Given the description of an element on the screen output the (x, y) to click on. 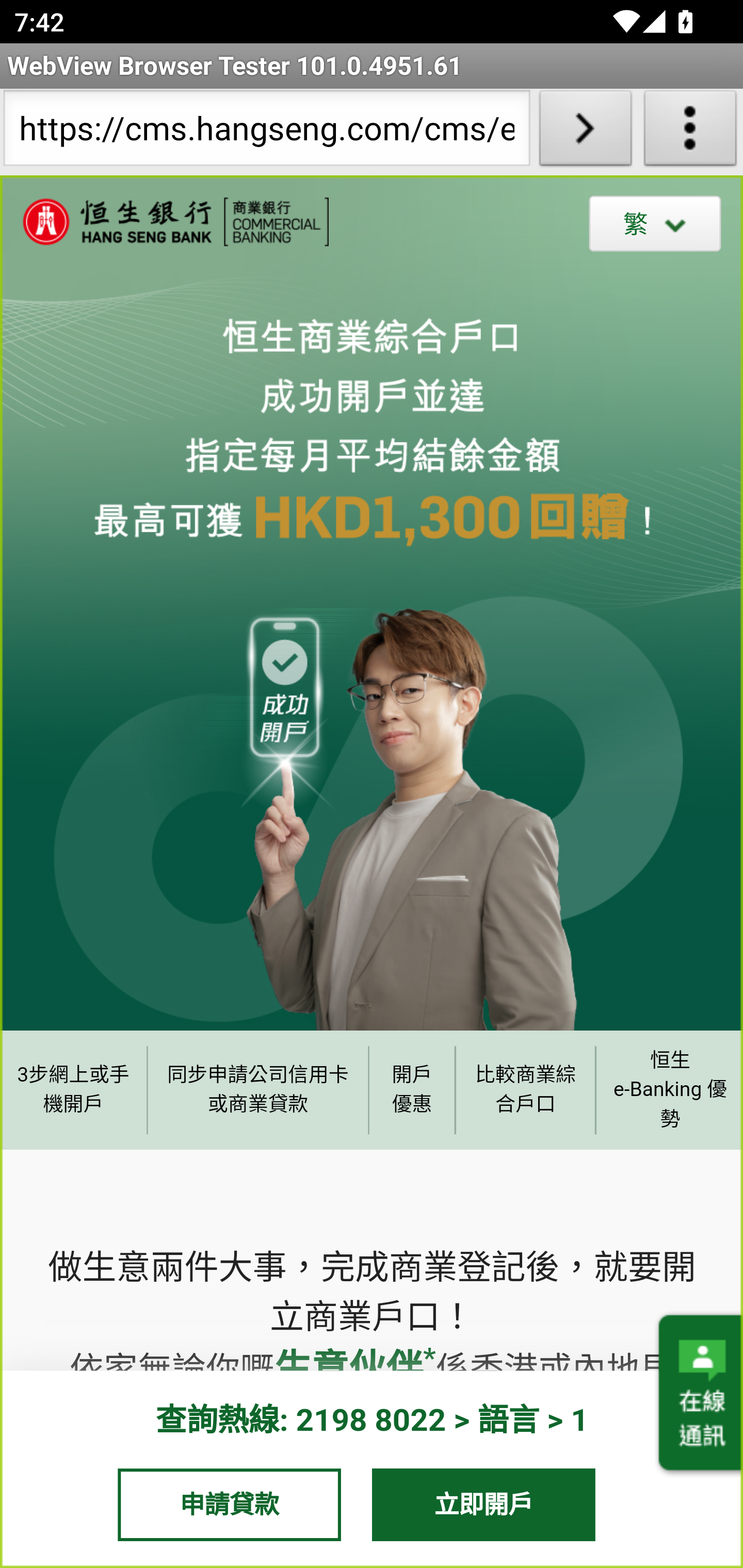
Load URL (585, 132)
About WebView (690, 132)
home (164, 222)
繁  繁    (655, 223)
恒生e‑Banking 優勢 (669, 1089)
3步網上或手機開戶 (73, 1089)
同步申請公司信用卡或商業貸款 (257, 1089)
開戶優惠 (411, 1089)
比較商業綜合戶口 (525, 1089)
申請貸款 (229, 1504)
立即開戶 (484, 1504)
